Given the description of an element on the screen output the (x, y) to click on. 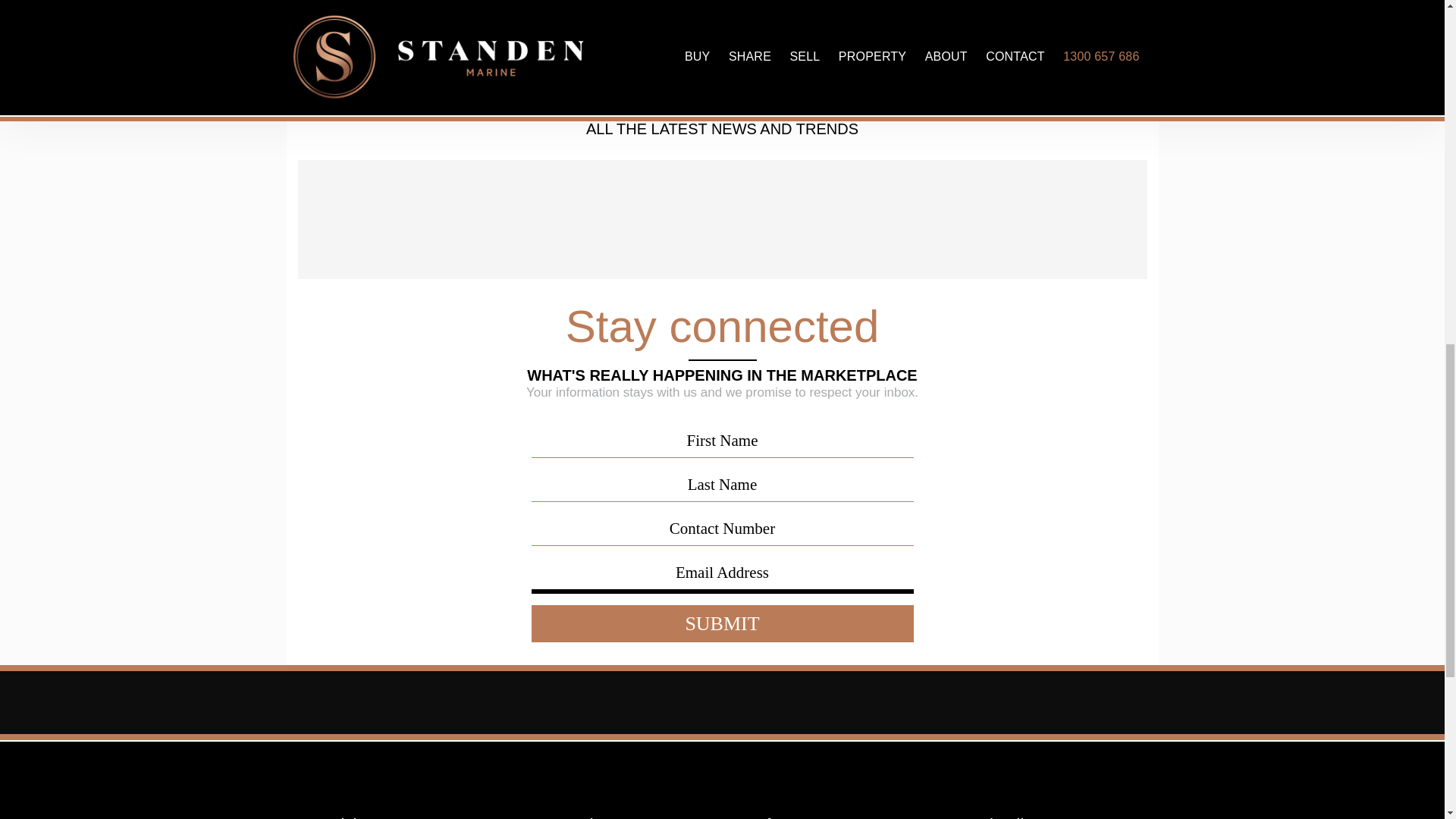
Bayliner 325 Sports Cruiser (618, 16)
Dockside Chat: Save Money, Discover BoatBuy Surveyors (1040, 219)
Boating Tip: Secure Your Anchor (828, 219)
